Given the description of an element on the screen output the (x, y) to click on. 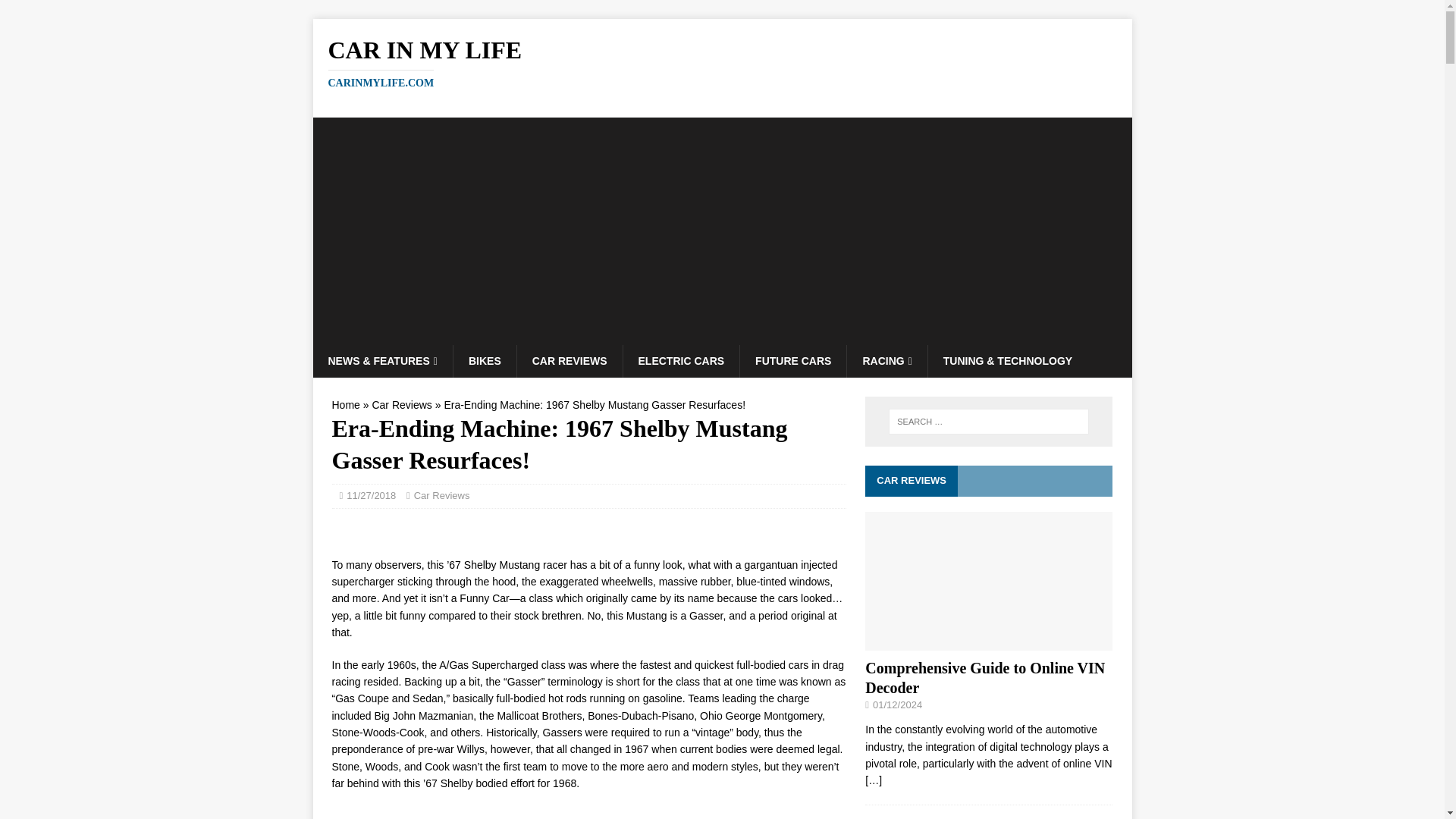
Home (345, 404)
Car in My Life (721, 62)
FUTURE CARS (792, 360)
Car Reviews (400, 404)
Car Reviews (441, 495)
RACING (885, 360)
ELECTRIC CARS (681, 360)
BIKES (721, 62)
